Given the description of an element on the screen output the (x, y) to click on. 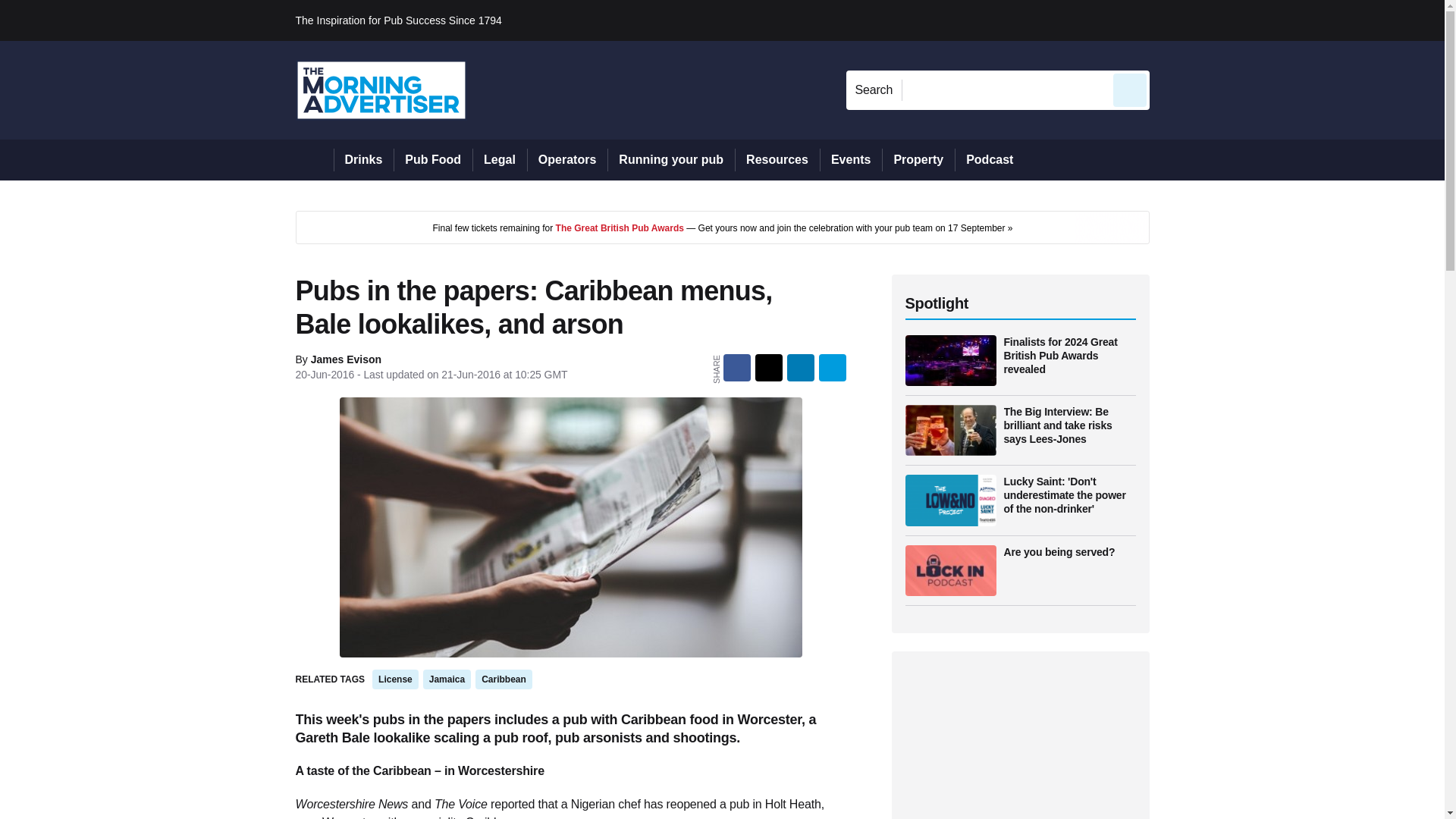
Drinks (363, 159)
REGISTER (1250, 20)
Send (1129, 90)
Legal (499, 159)
Home (314, 159)
My account (1256, 20)
Pub Food (432, 159)
3rd party ad content (722, 227)
Sign in (1171, 20)
The Morning Advertiser (381, 89)
